Given the description of an element on the screen output the (x, y) to click on. 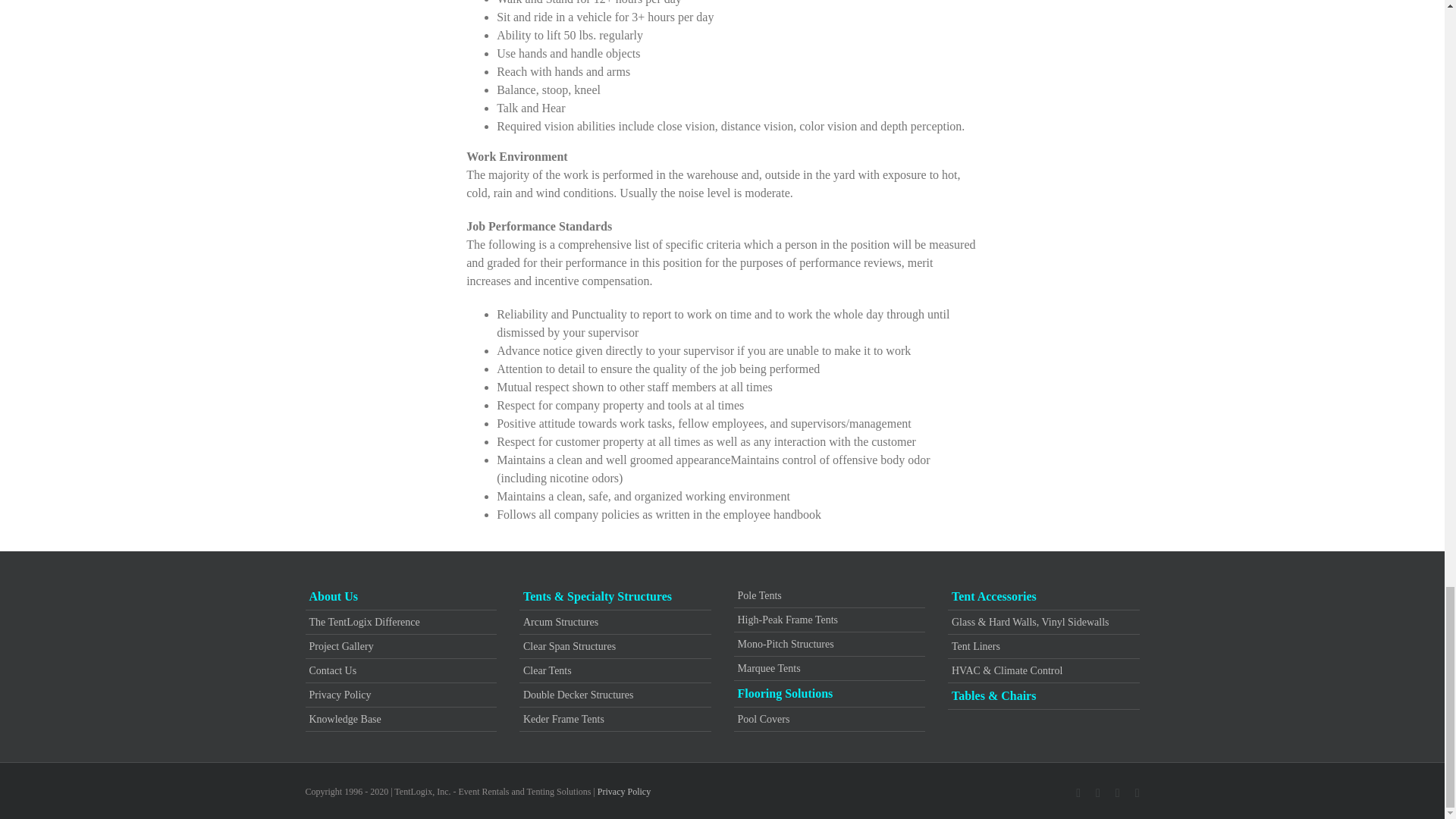
Double Decker Structures (614, 694)
The TentLogix Difference (400, 621)
Privacy Policy (400, 694)
Clear Span Structures (614, 646)
Pool Covers (828, 719)
Project Gallery (400, 646)
Knowledge Base (400, 719)
Arcum Structures (614, 621)
About Us (400, 597)
Pole Tents (828, 595)
